Given the description of an element on the screen output the (x, y) to click on. 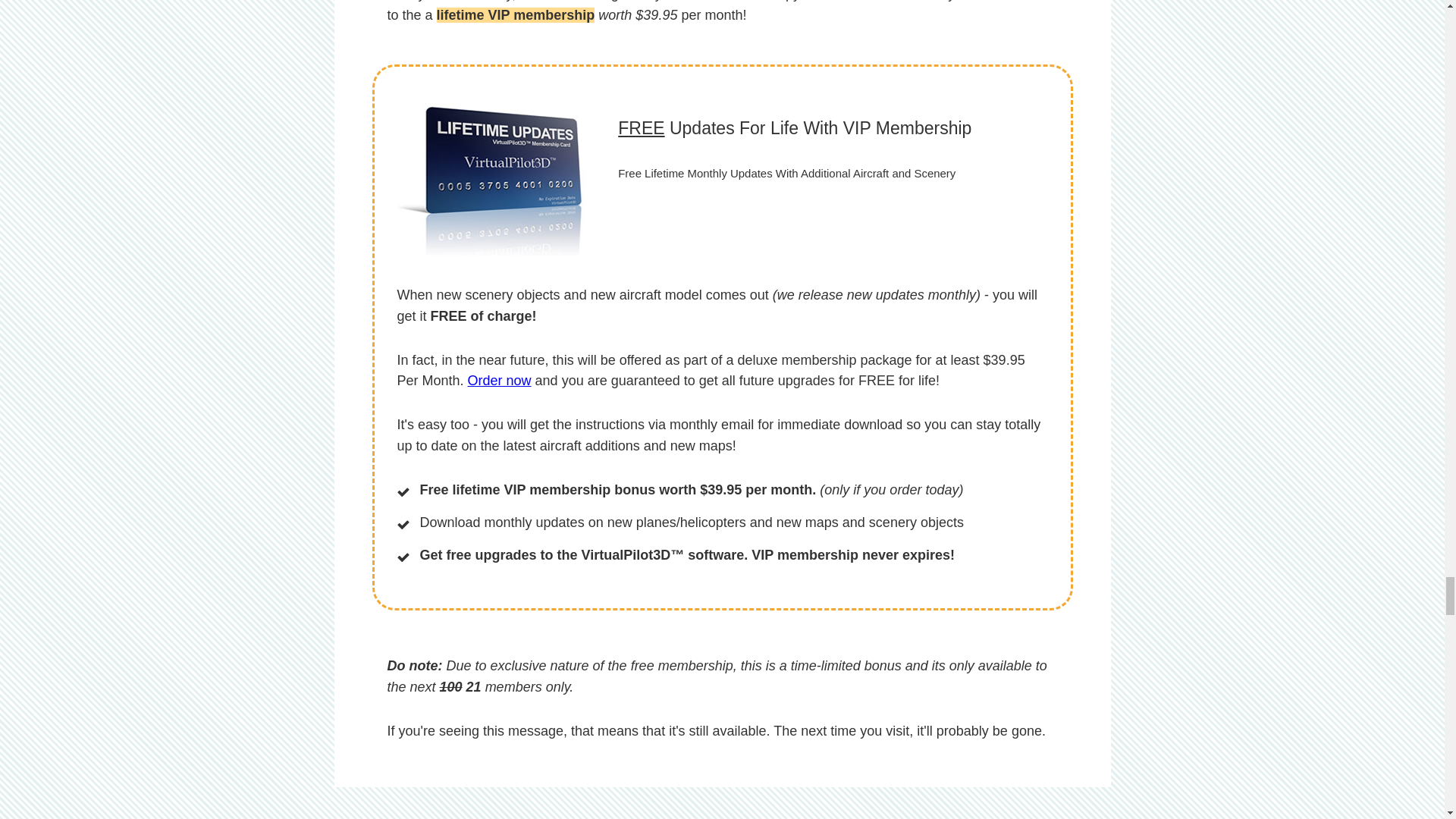
Order now (499, 380)
